Given the description of an element on the screen output the (x, y) to click on. 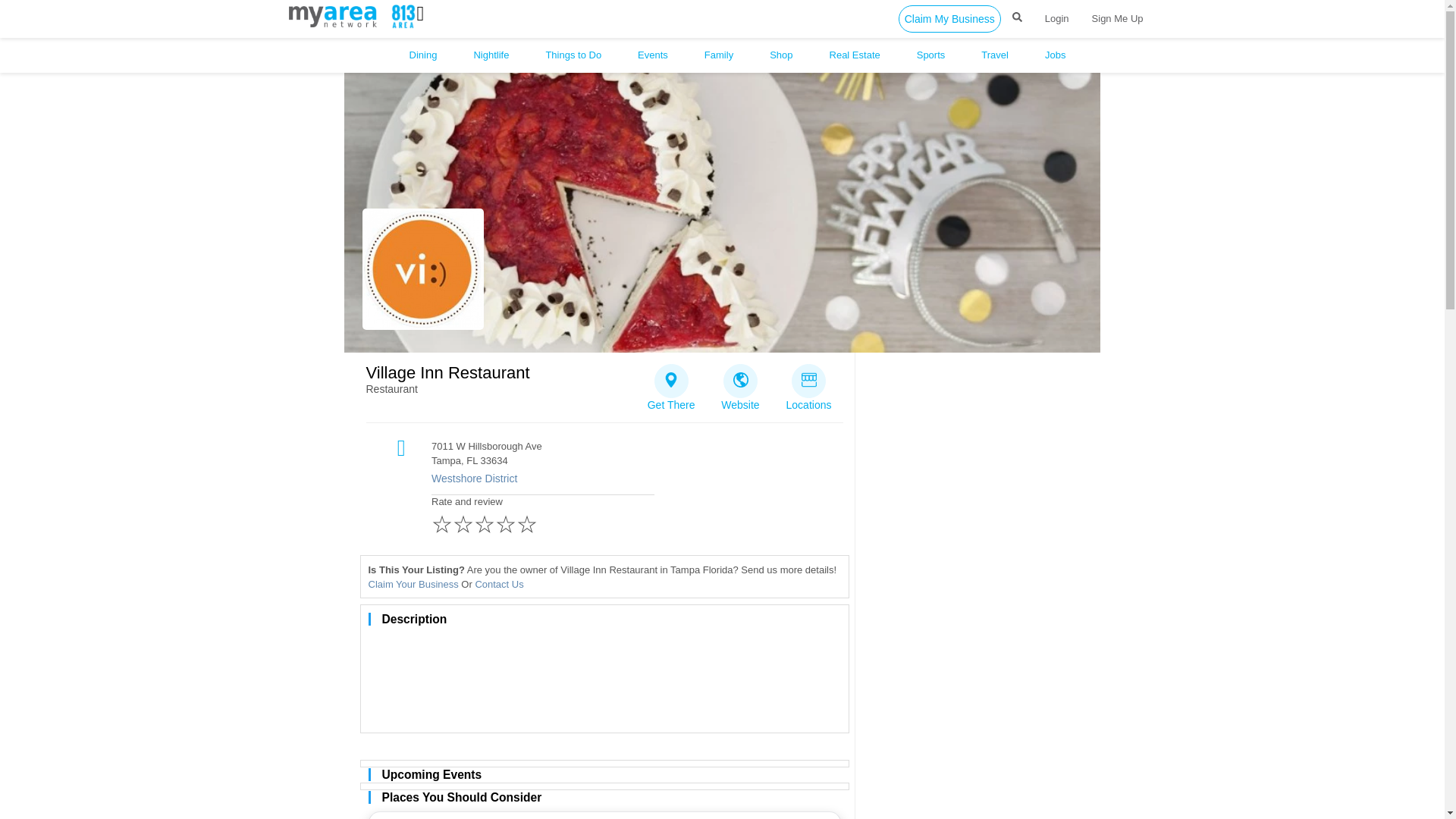
Login (1056, 18)
Login (1056, 18)
Westshore District (626, 478)
Sign Me Up (1117, 18)
Sign Me Up (1117, 18)
Get There (671, 382)
Website (740, 382)
Rate and review (541, 516)
Westshore District (626, 478)
Claim My Business (949, 18)
